Given the description of an element on the screen output the (x, y) to click on. 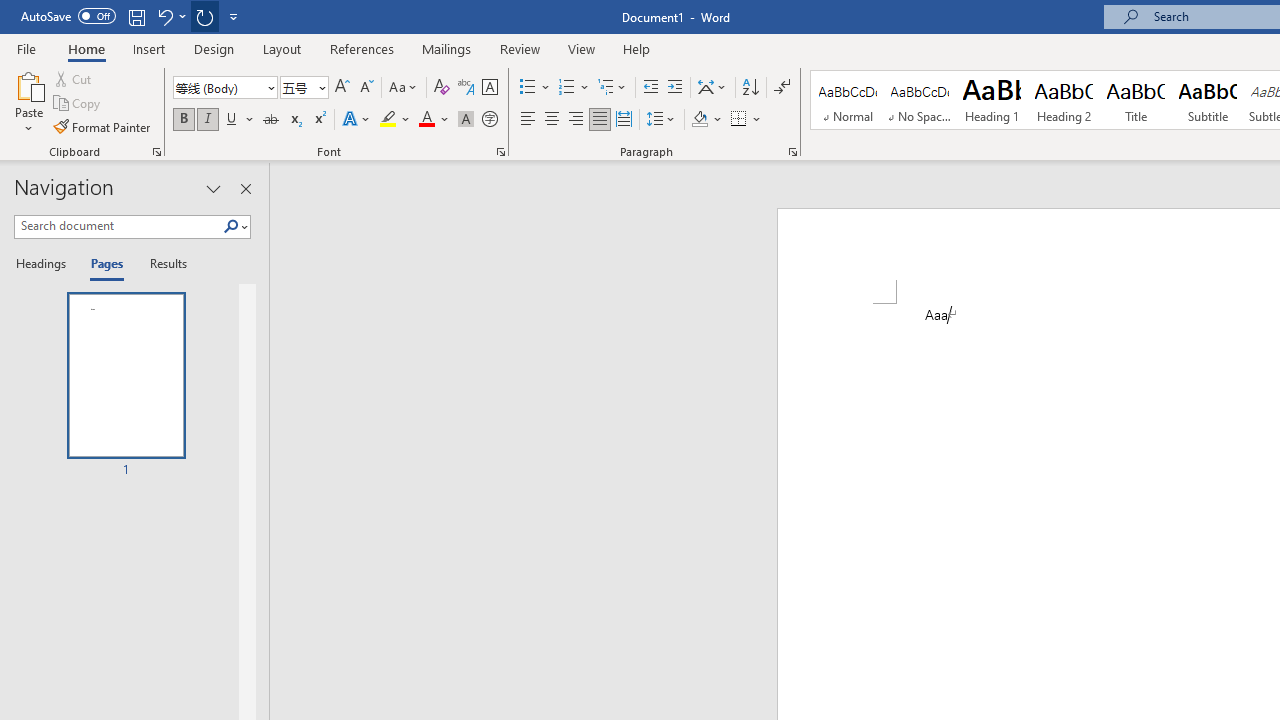
Text Highlight Color Yellow (388, 119)
Pages (105, 264)
Character Shading (465, 119)
Multilevel List (613, 87)
System (10, 11)
Grow Font (342, 87)
Shading (706, 119)
Line and Paragraph Spacing (661, 119)
Justify (599, 119)
Numbering (566, 87)
AutoSave (68, 16)
Results (161, 264)
View (582, 48)
Paste (28, 102)
Borders (746, 119)
